Given the description of an element on the screen output the (x, y) to click on. 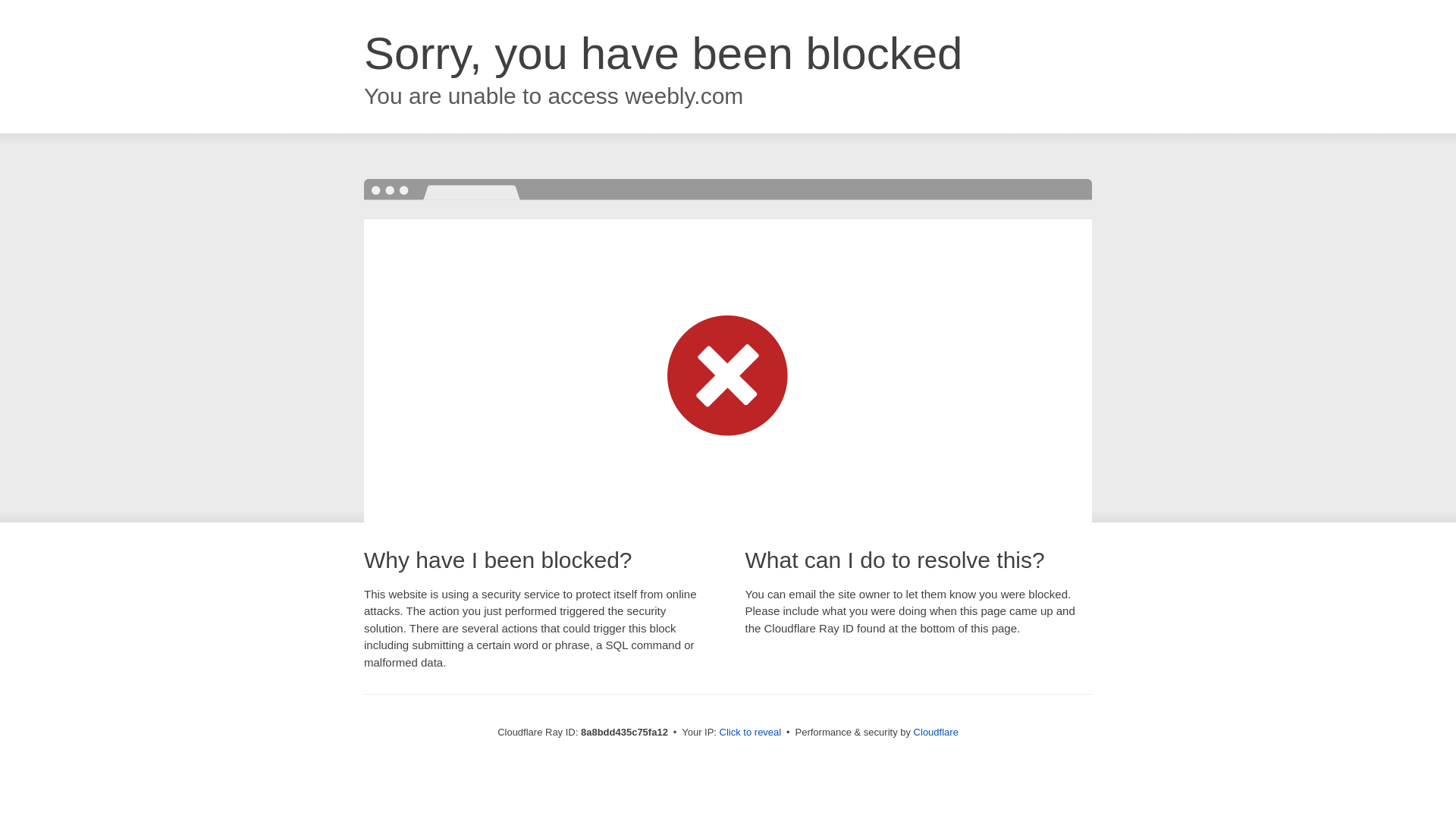
Cloudflare (936, 731)
Click to reveal (750, 732)
